Given the description of an element on the screen output the (x, y) to click on. 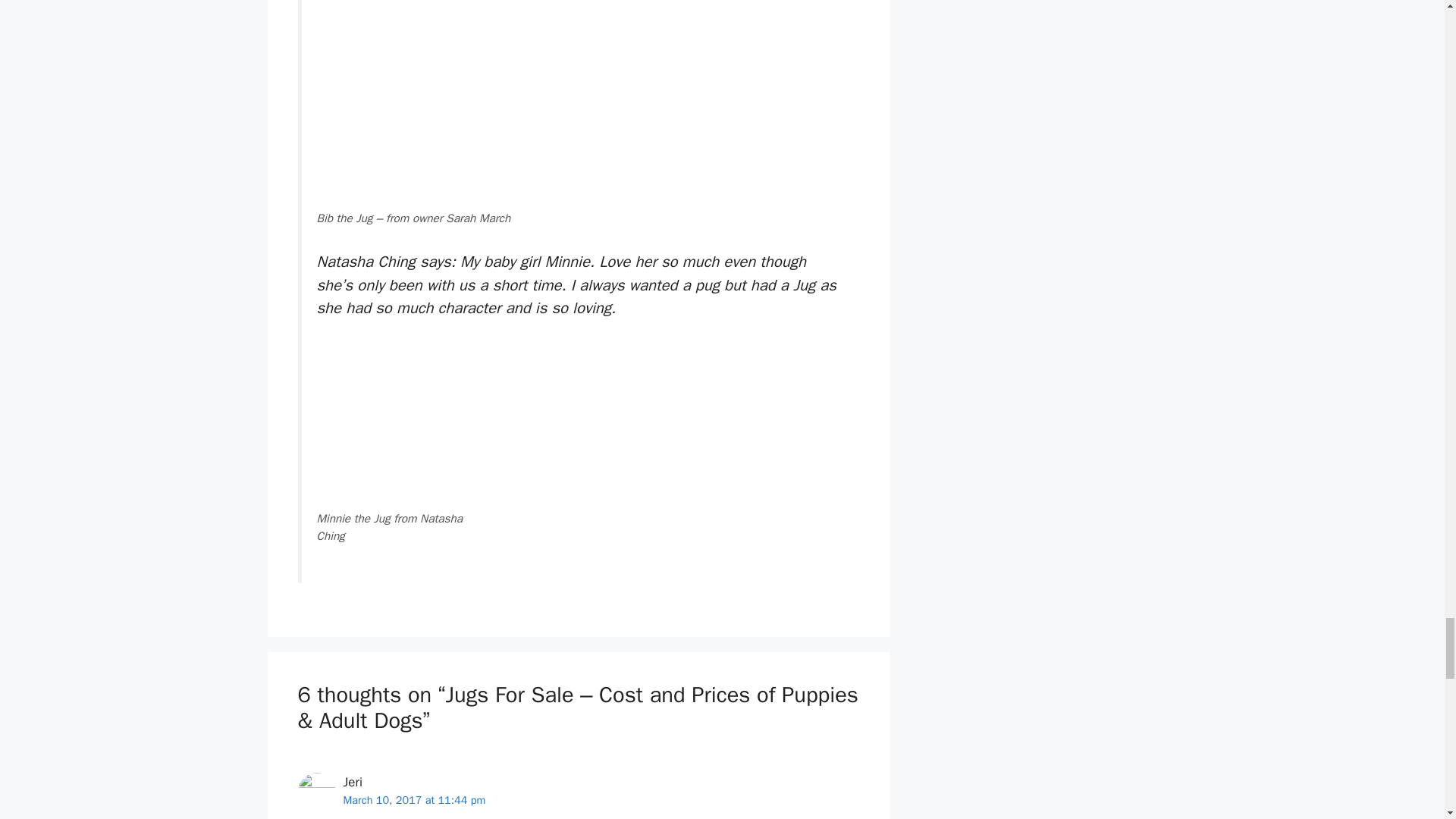
March 10, 2017 at 11:44 pm (413, 799)
